Given the description of an element on the screen output the (x, y) to click on. 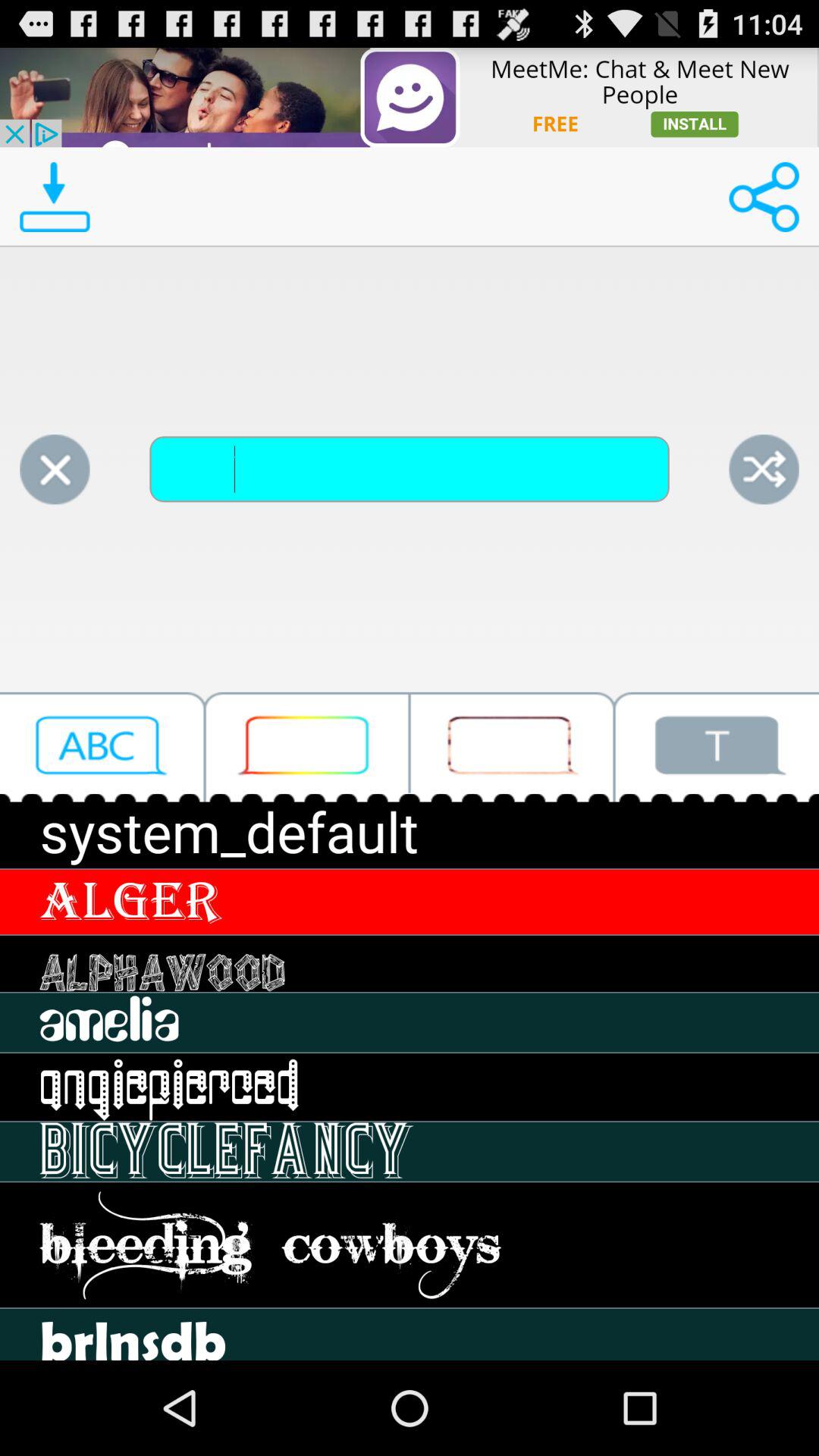
share the article (764, 469)
